Given the description of an element on the screen output the (x, y) to click on. 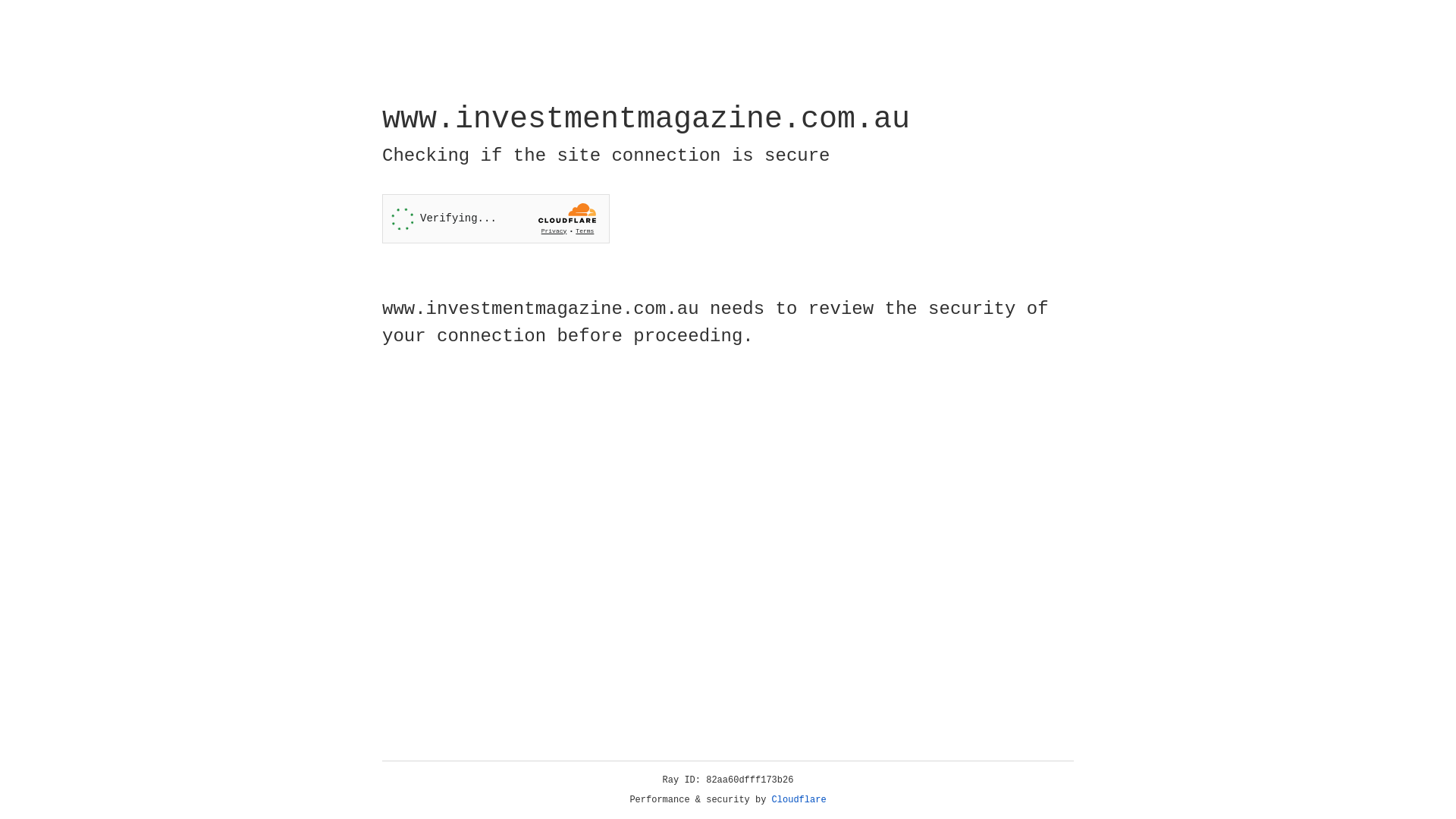
Widget containing a Cloudflare security challenge Element type: hover (495, 218)
Cloudflare Element type: text (798, 799)
